Given the description of an element on the screen output the (x, y) to click on. 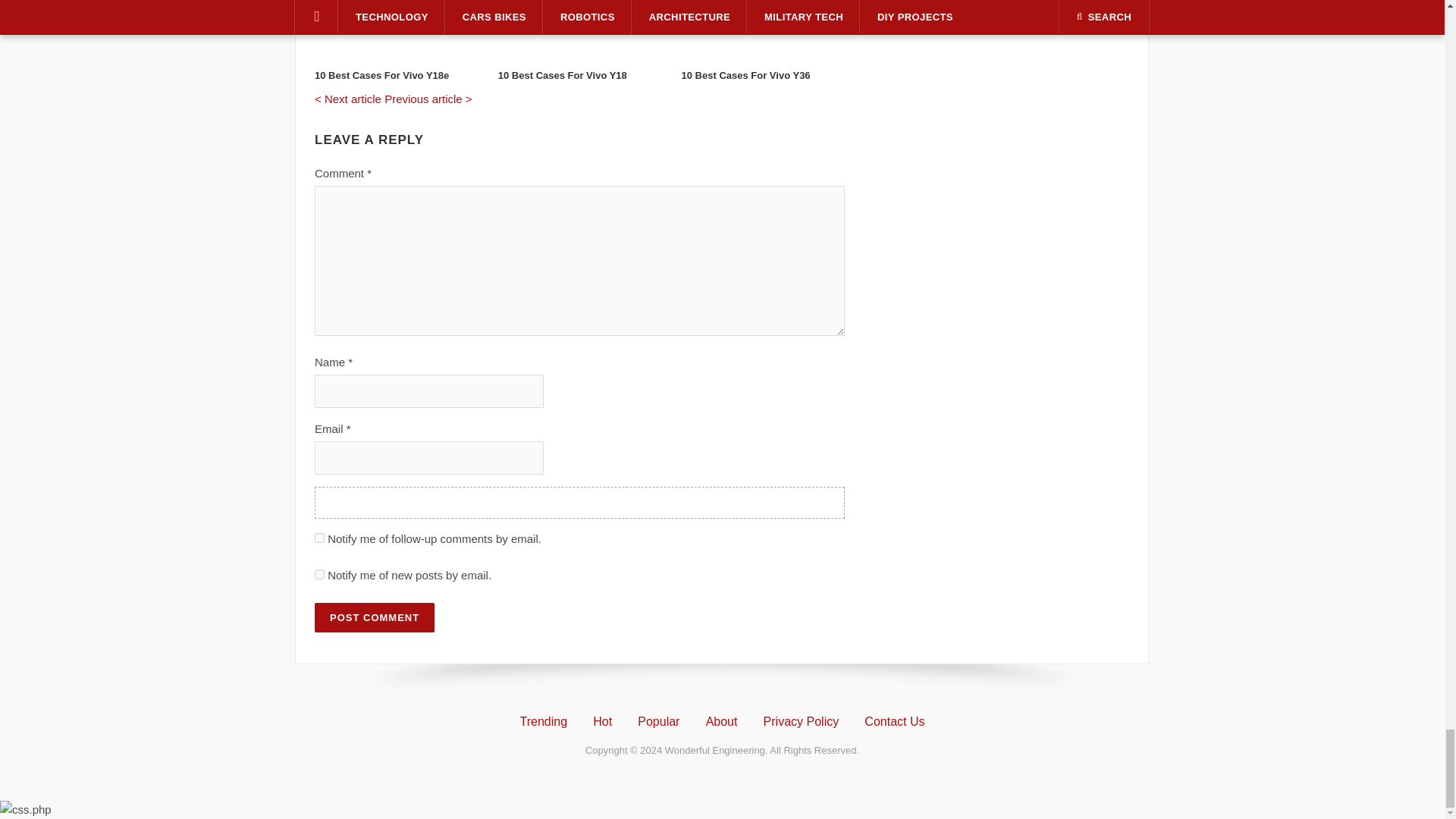
subscribe (319, 537)
Post Comment (373, 617)
10 Best Cases For Vivo Y18e (396, 17)
10 Best Cases For Vivo Y18 (579, 17)
subscribe (319, 574)
